Given the description of an element on the screen output the (x, y) to click on. 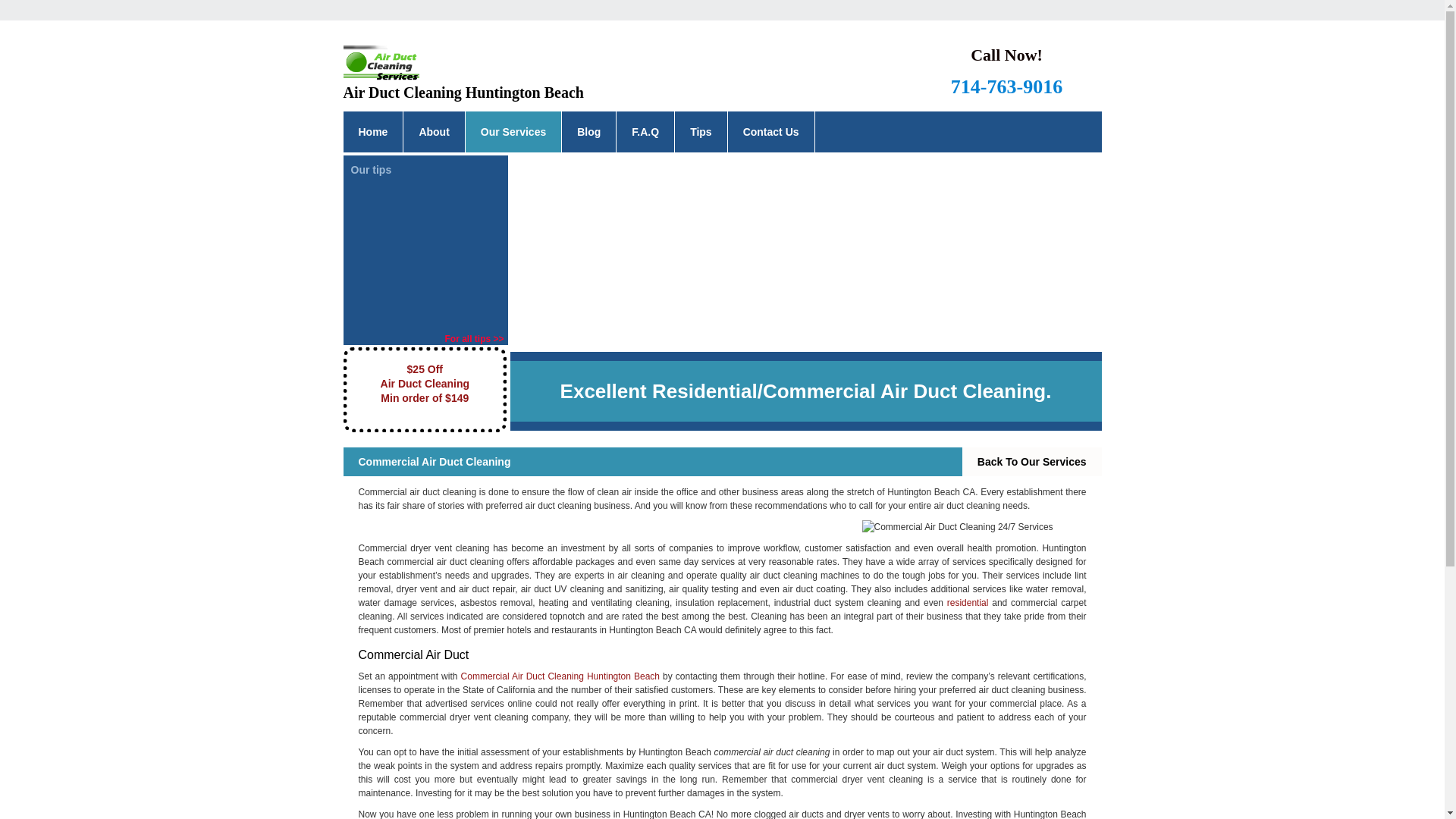
Commercial Air Duct Cleaning (969, 526)
Home (372, 131)
Tips (700, 131)
Back To Our Services (1032, 461)
About (433, 131)
residential (967, 602)
Our Services (512, 131)
F.A.Q (644, 131)
Facebook (760, 71)
Blog (588, 131)
